Given the description of an element on the screen output the (x, y) to click on. 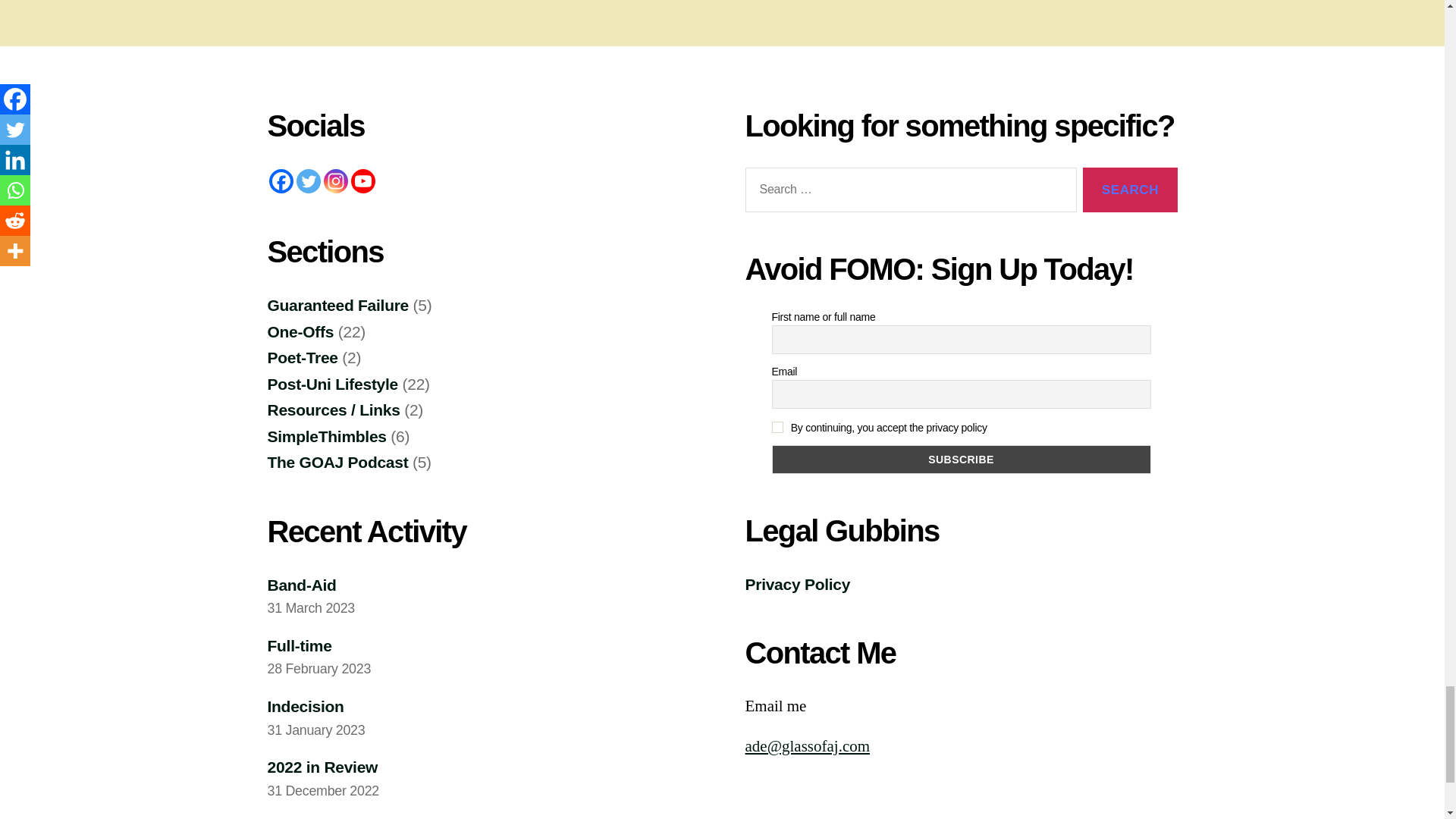
Search (1129, 189)
on (777, 427)
SUBSCRIBE (961, 459)
Search (1129, 189)
